Given the description of an element on the screen output the (x, y) to click on. 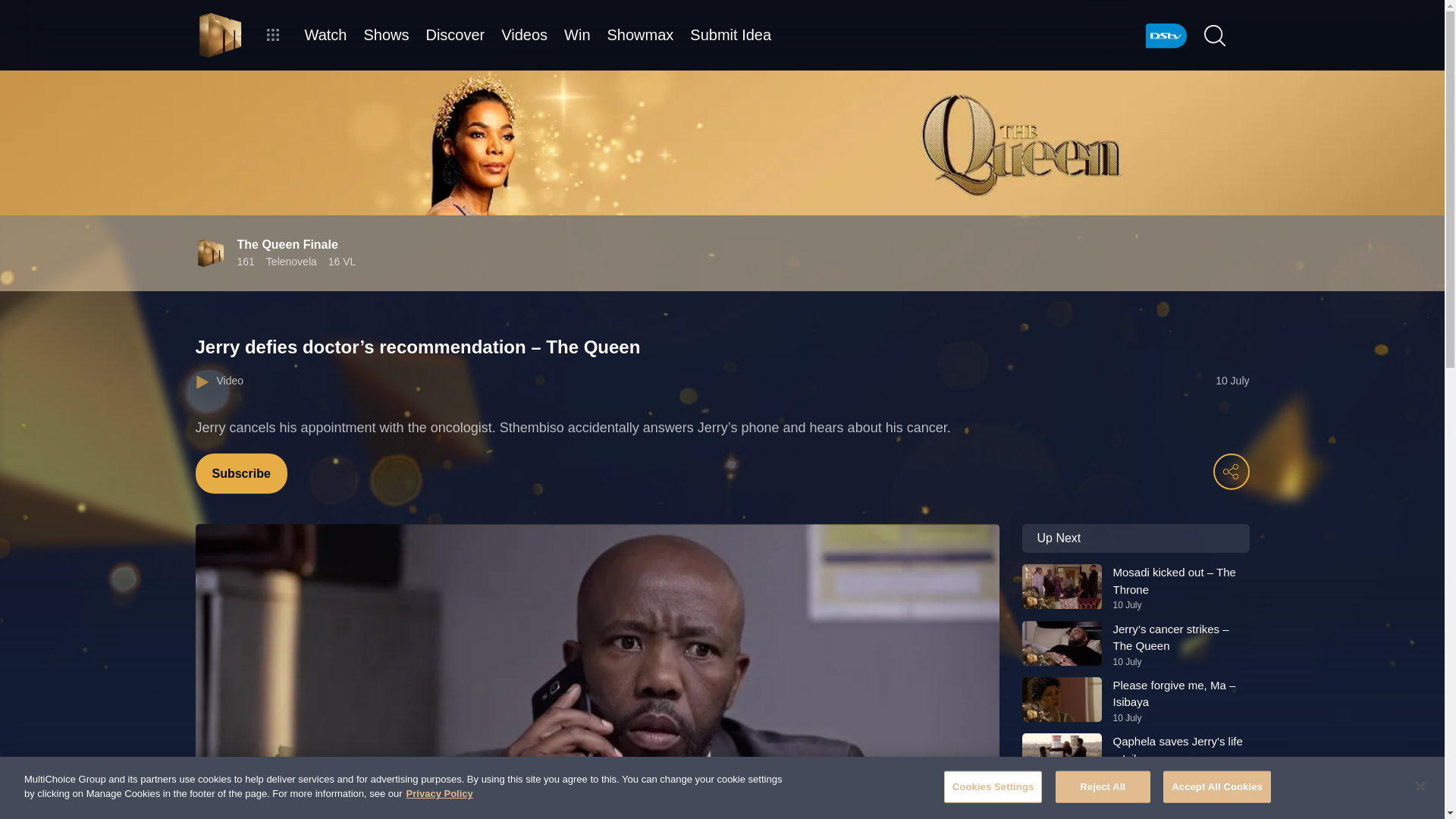
Subscribe (240, 473)
